Given the description of an element on the screen output the (x, y) to click on. 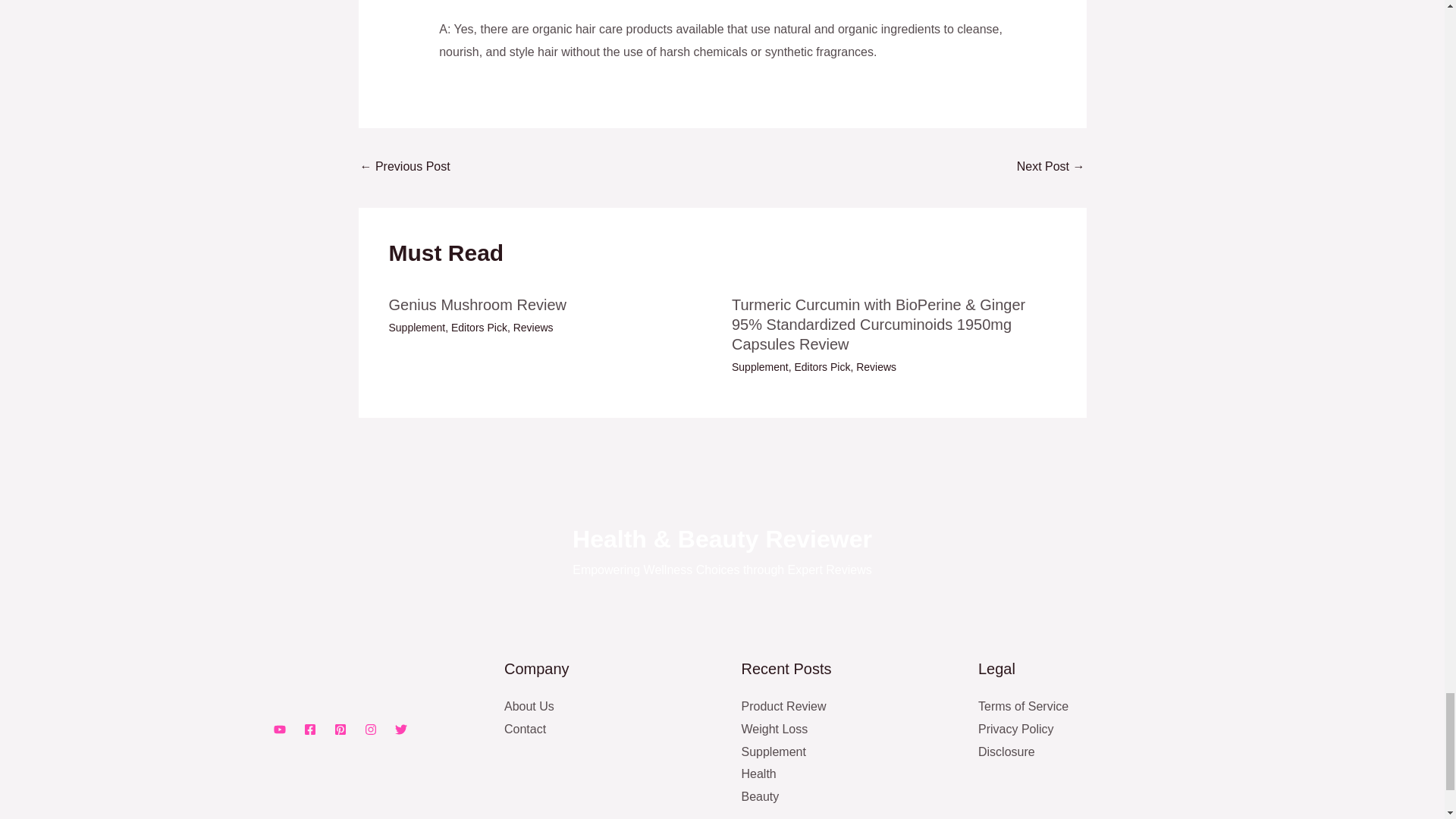
Men's Grooming Essentials: Your Ultimate Guide for 2023 (1050, 167)
Nail Art and Care: Your Ultimate Guide for Beautiful Nails (404, 167)
